Given the description of an element on the screen output the (x, y) to click on. 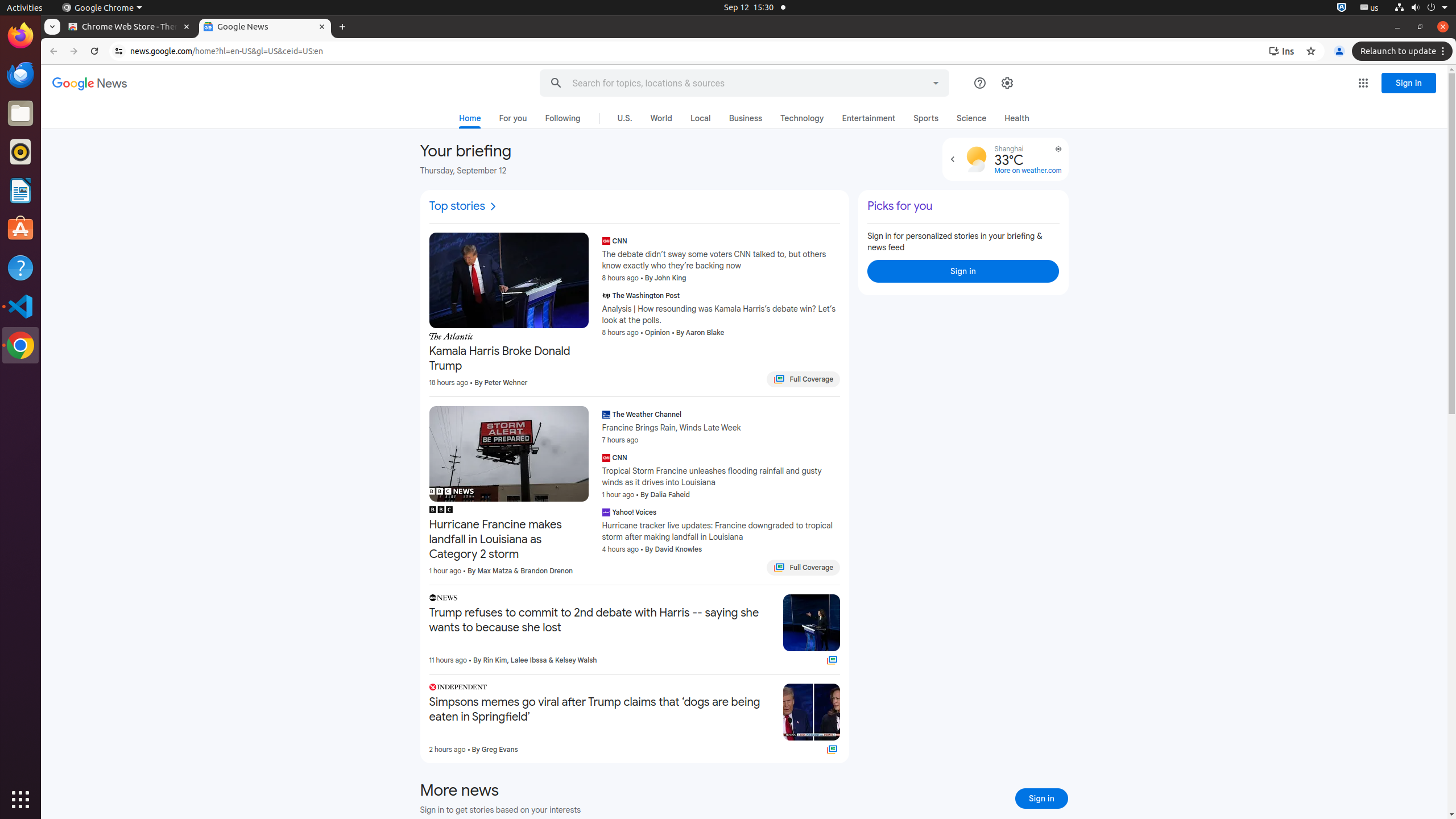
Google News - Memory usage - 40.9 MB Element type: page-tab (264, 26)
Tropical Storm Francine unleashes flooding rainfall and gusty winds as it drives into Louisiana Element type: link (720, 476)
Health Element type: menu-item (1016, 118)
Entertainment Element type: menu-item (868, 118)
Hurricane tracker live updates: Francine downgraded to tropical storm after making landfall in Louisiana Element type: link (720, 530)
